Given the description of an element on the screen output the (x, y) to click on. 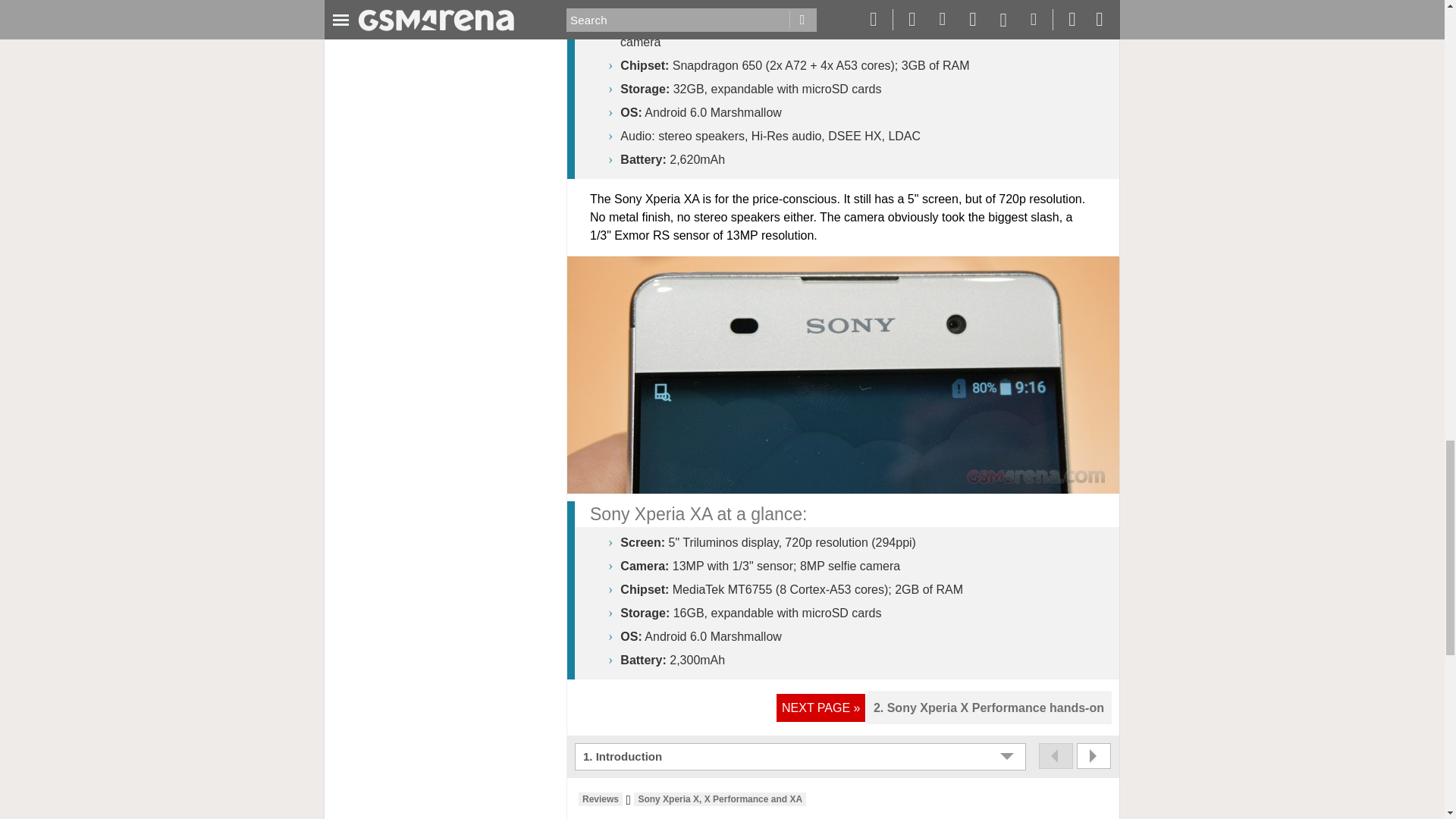
Next page (1093, 755)
Previous page (1056, 755)
1. Introduction (802, 756)
